Given the description of an element on the screen output the (x, y) to click on. 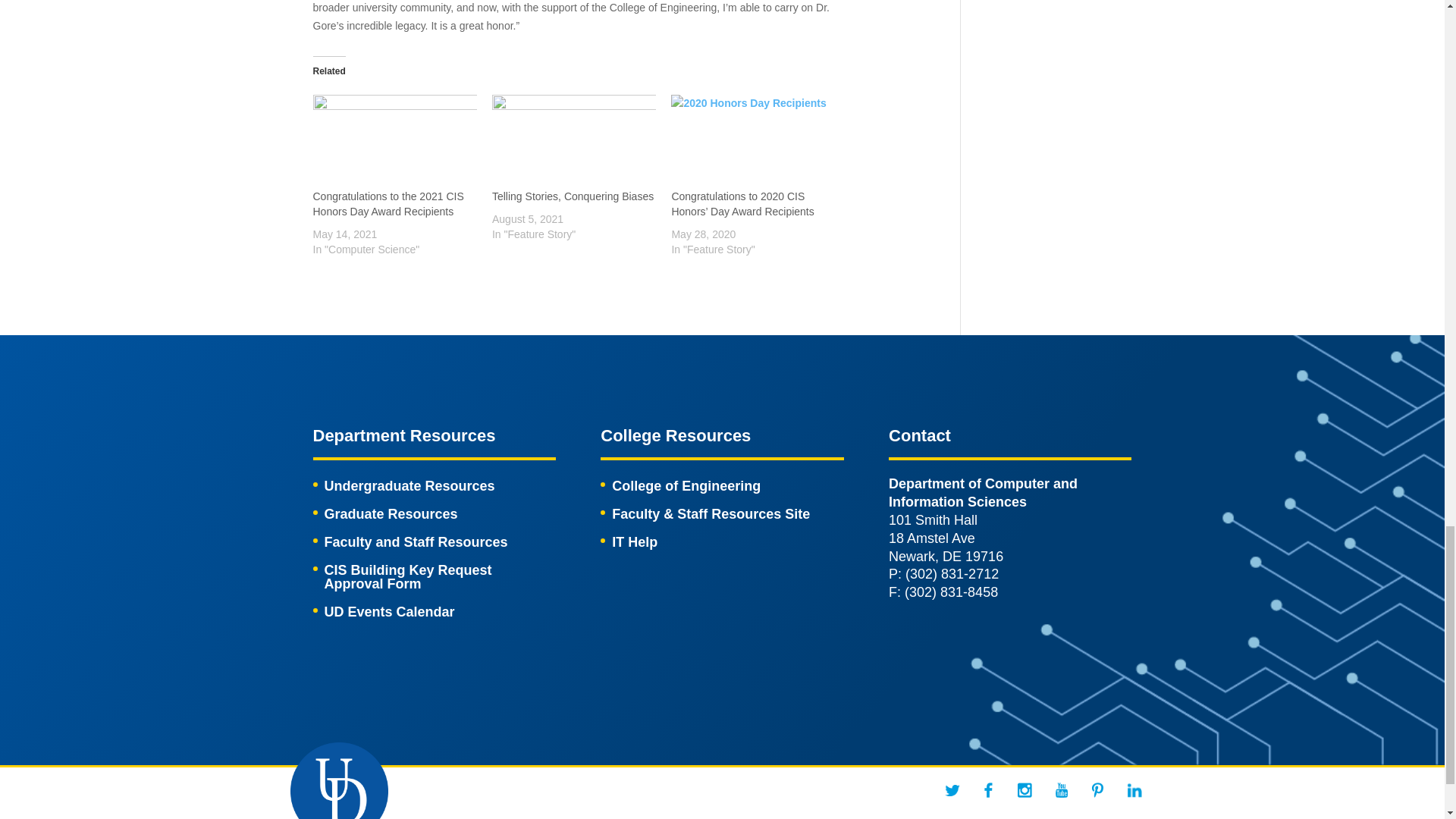
Youtube (1061, 789)
Linkedin (1134, 789)
Instagram (1025, 789)
Pinterest (1097, 789)
Pinterest (1098, 789)
Twitter (951, 789)
Facebook (988, 789)
Instagram (1024, 789)
Facebook (989, 789)
Telling Stories, Conquering Biases (574, 142)
Twitter (952, 789)
Congratulations to the 2021 CIS Honors Day Award Recipients (394, 142)
Telling Stories, Conquering Biases (572, 196)
Congratulations to the 2021 CIS Honors Day Award Recipients (388, 203)
Youtube (1061, 789)
